Given the description of an element on the screen output the (x, y) to click on. 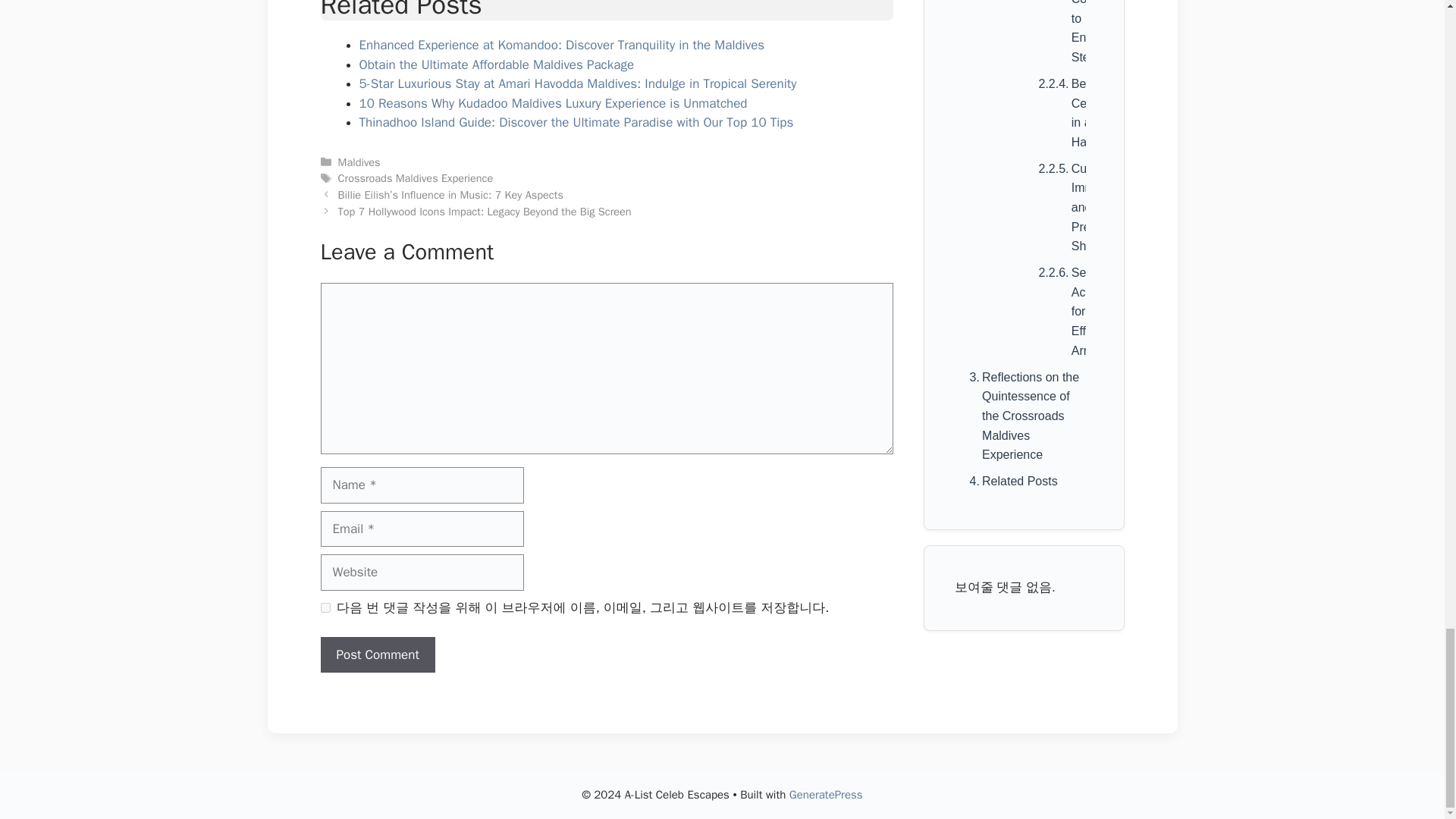
yes (325, 607)
Top 7 Hollywood Icons Impact: Legacy Beyond the Big Screen (484, 211)
Crossroads Maldives Experience (415, 178)
Obtain the Ultimate Affordable Maldives Package (496, 64)
Maldives (358, 161)
Post Comment (376, 655)
